Given the description of an element on the screen output the (x, y) to click on. 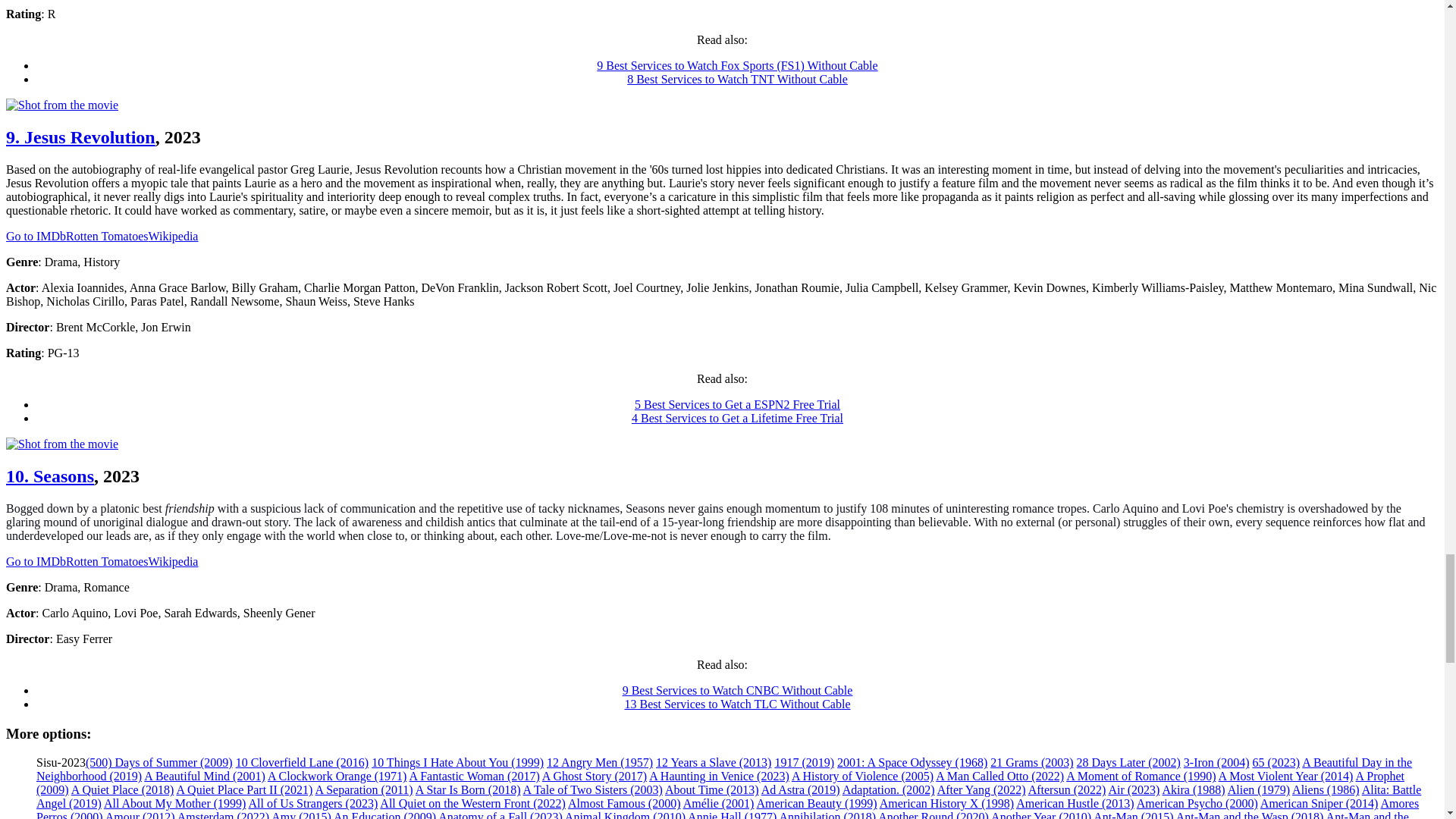
Jesus Revolution (80, 137)
